Given the description of an element on the screen output the (x, y) to click on. 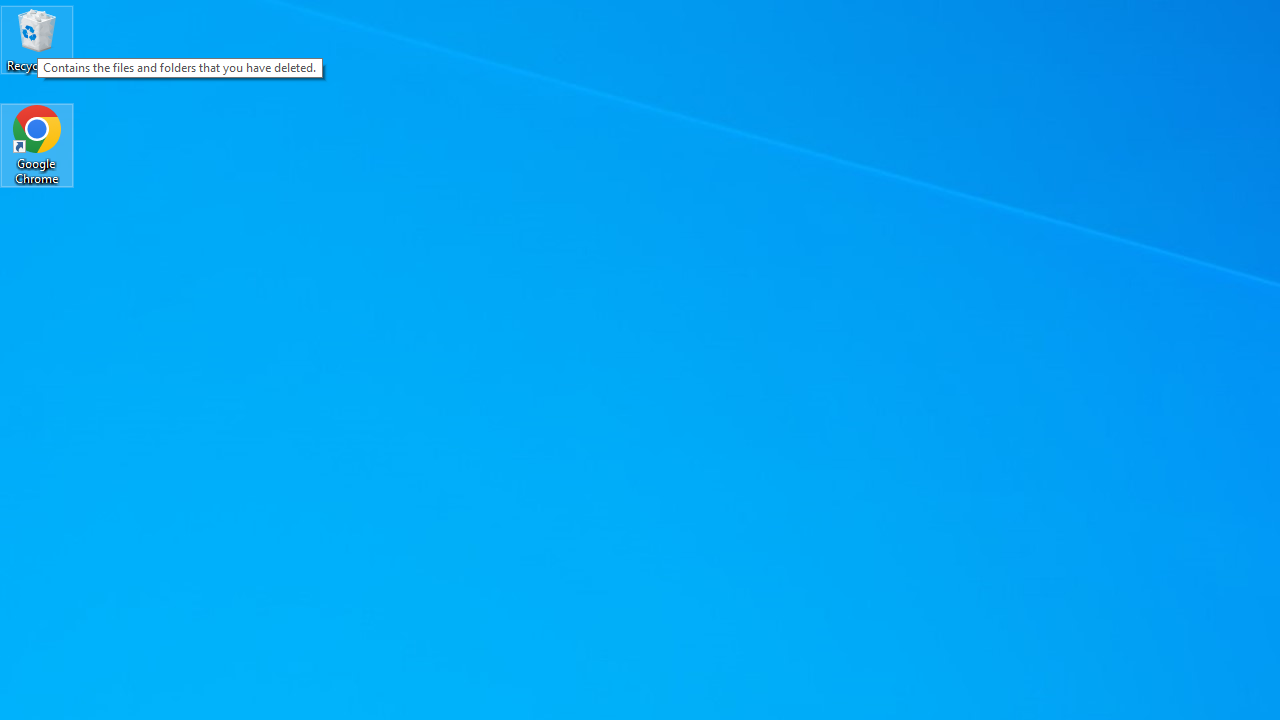
Recycle Bin (37, 39)
Google Chrome (37, 144)
